Given the description of an element on the screen output the (x, y) to click on. 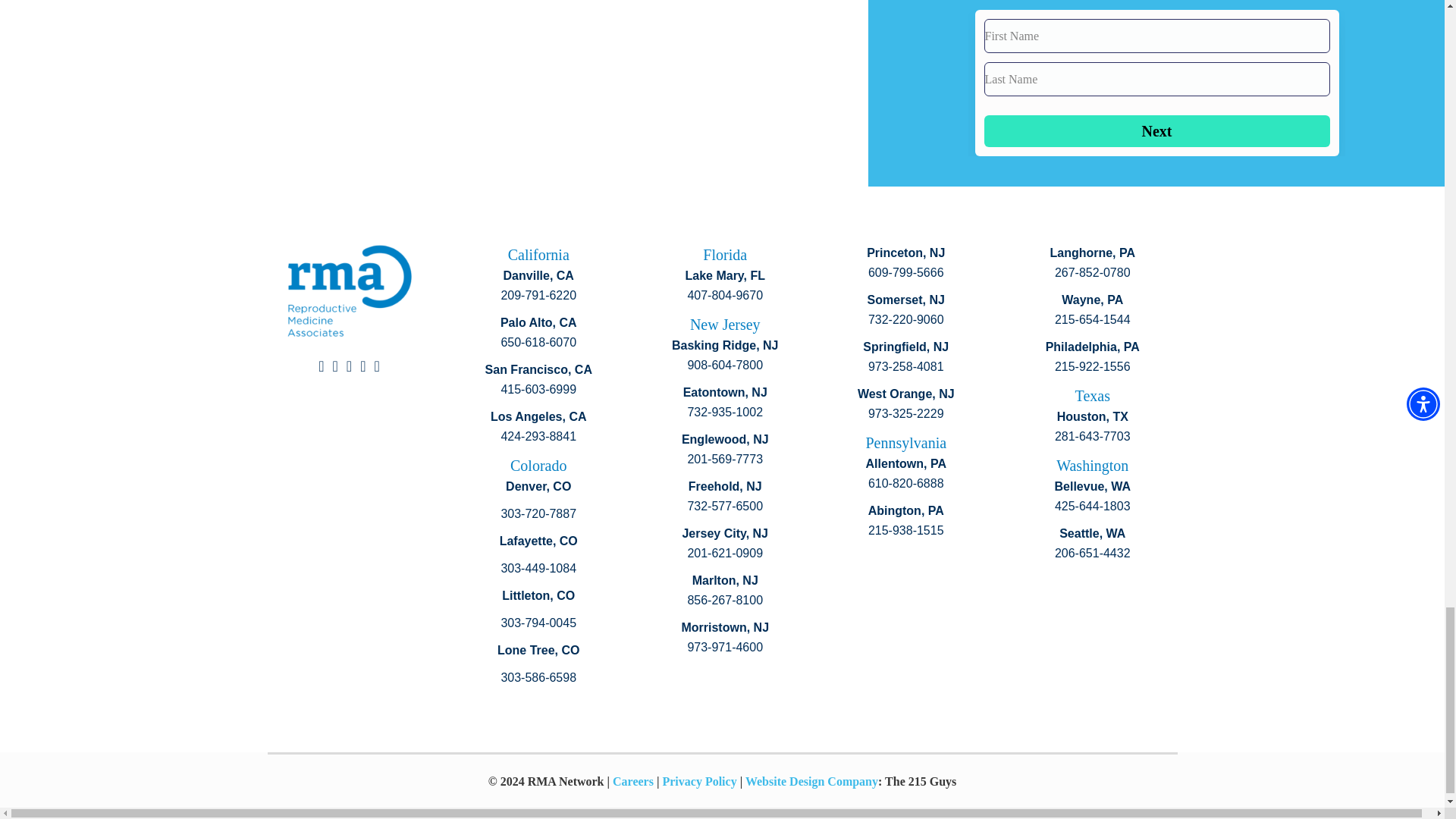
form-123formbuilder (1156, 82)
